Given the description of an element on the screen output the (x, y) to click on. 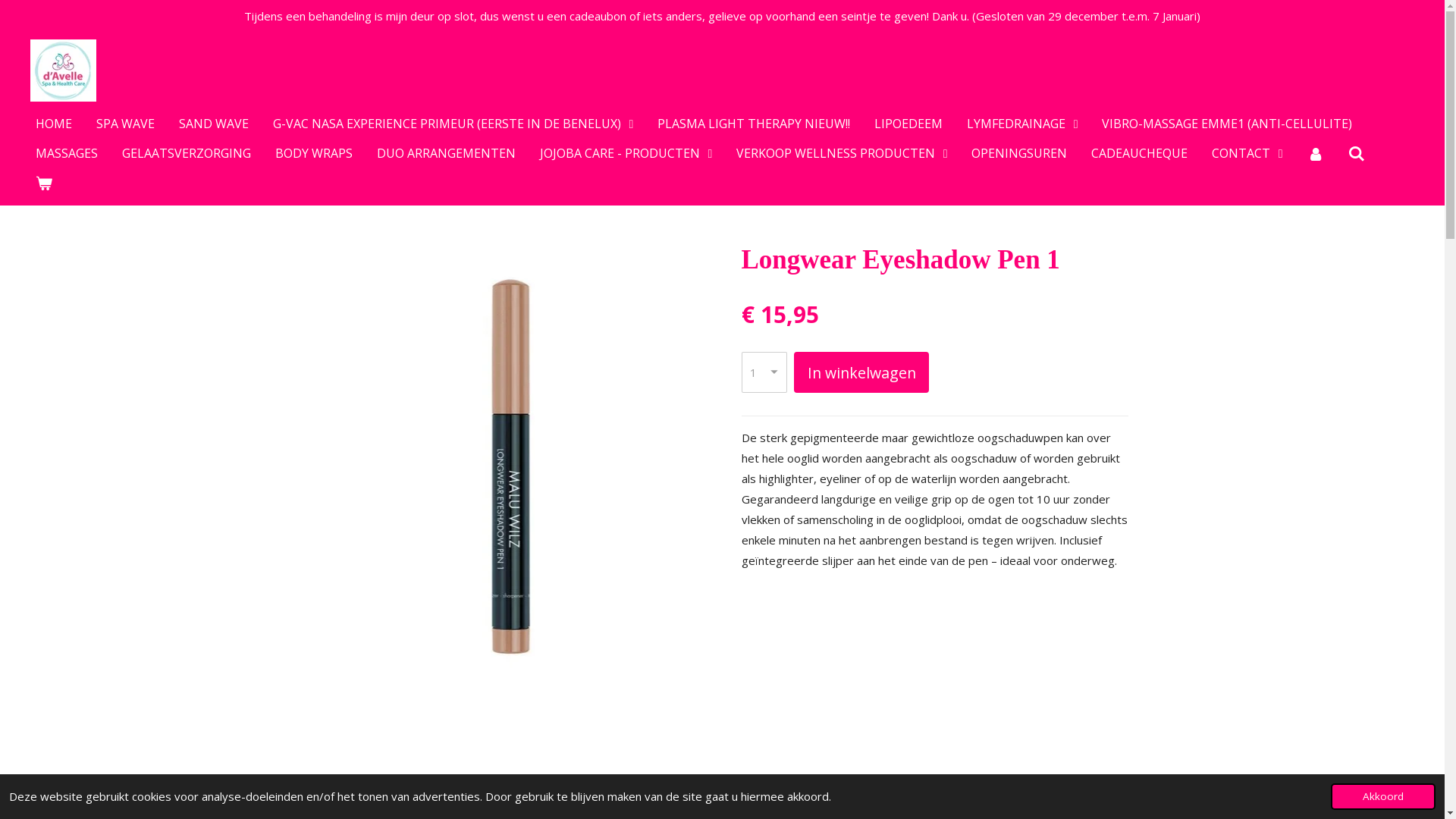
GELAATSVERZORGING Element type: text (186, 152)
CADEAUCHEQUE Element type: text (1138, 152)
G-VAC NASA EXPERIENCE PRIMEUR (EERSTE IN DE BENELUX) Element type: text (452, 123)
CONTACT Element type: text (1246, 153)
VIBRO-MASSAGE EMME1 (ANTI-CELLULITE) Element type: text (1226, 123)
Account Element type: hover (1315, 152)
HOME Element type: text (53, 123)
SAND WAVE Element type: text (213, 123)
In winkelwagen Element type: text (860, 372)
LYMFEDRAINAGE Element type: text (1021, 123)
OPENINGSUREN Element type: text (1019, 152)
DUO ARRANGEMENTEN Element type: text (445, 152)
LIPOEDEEM Element type: text (908, 123)
BODY WRAPS Element type: text (313, 152)
MASSAGES Element type: text (66, 152)
SPA WAVE Element type: text (125, 123)
VERKOOP WELLNESS PRODUCTEN Element type: text (841, 153)
d'Avelle Element type: hover (63, 70)
Bekijk winkelwagen Element type: hover (43, 182)
Zoeken Element type: hover (1356, 152)
JOJOBA CARE - PRODUCTEN Element type: text (625, 153)
PLASMA LIGHT THERAPY NIEUW!! Element type: text (753, 123)
Akkoord Element type: text (1382, 796)
